Given the description of an element on the screen output the (x, y) to click on. 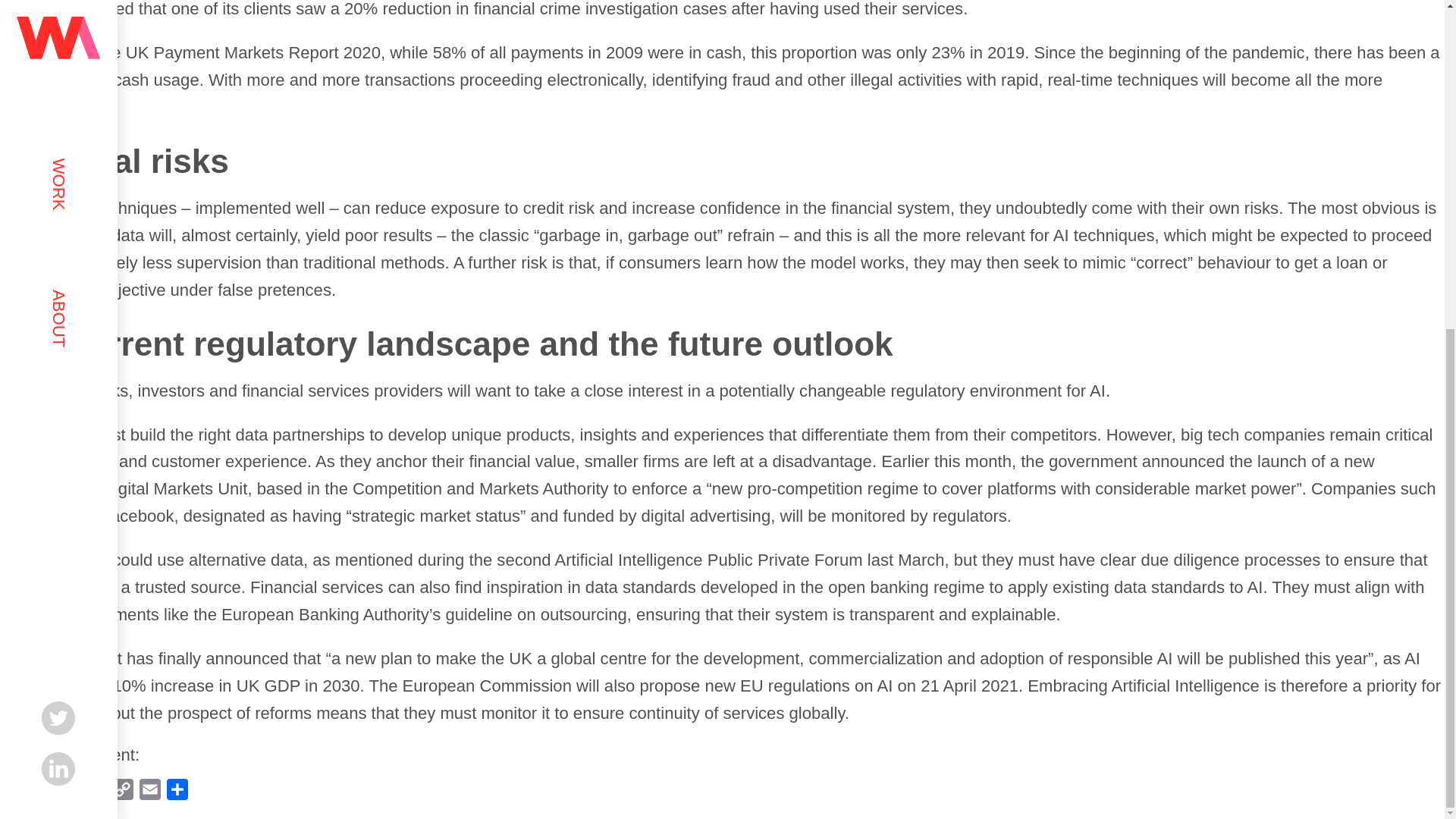
Copy Link (122, 792)
Twitter (41, 792)
LinkedIn (13, 792)
Twitter (41, 792)
LinkedIn (13, 792)
Email (149, 792)
WhatsApp (68, 792)
Facebook (95, 792)
